Given the description of an element on the screen output the (x, y) to click on. 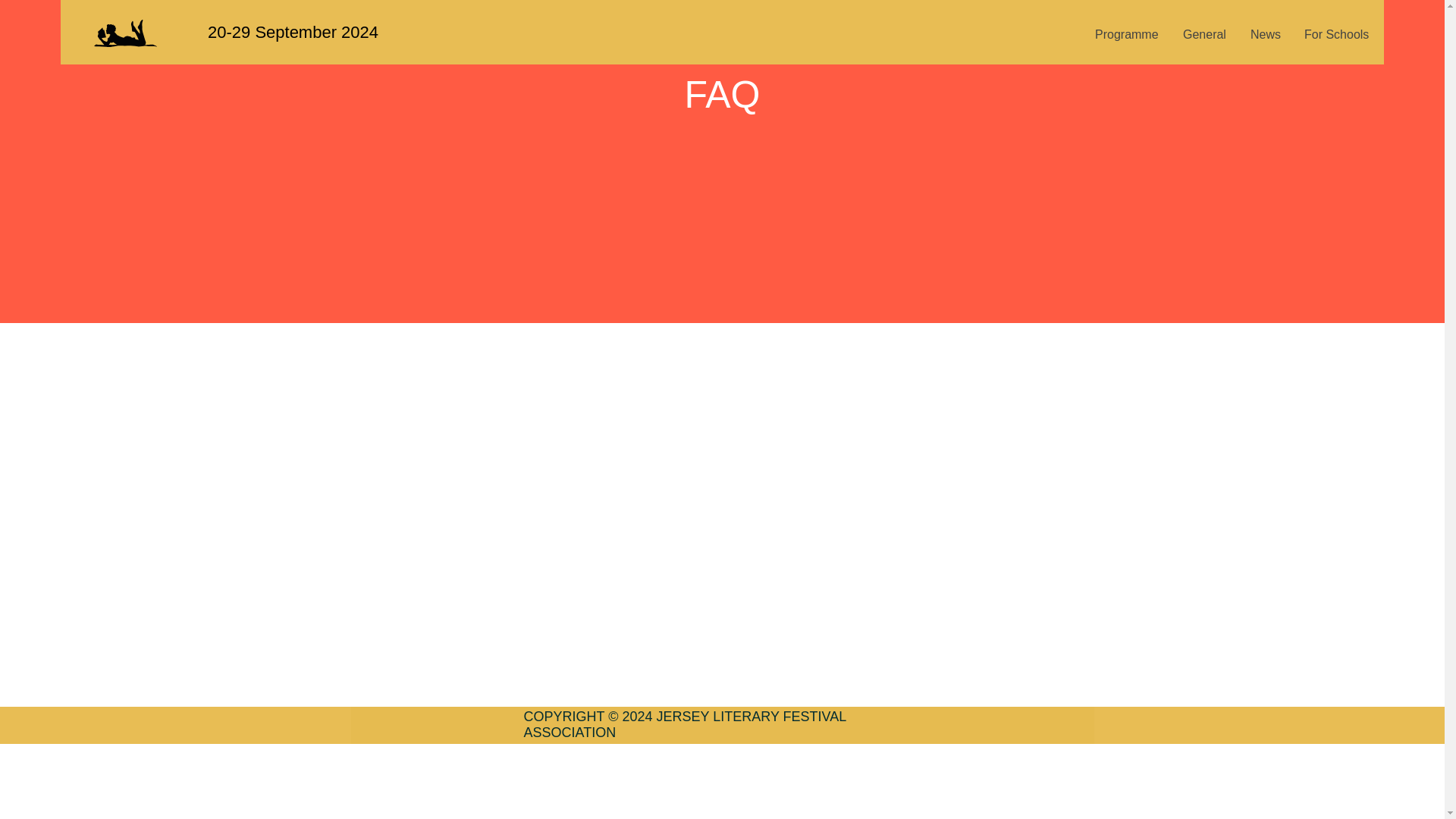
News (1265, 34)
20-29 September 2024 (293, 31)
Programme (1127, 34)
For Schools (1336, 34)
